Given the description of an element on the screen output the (x, y) to click on. 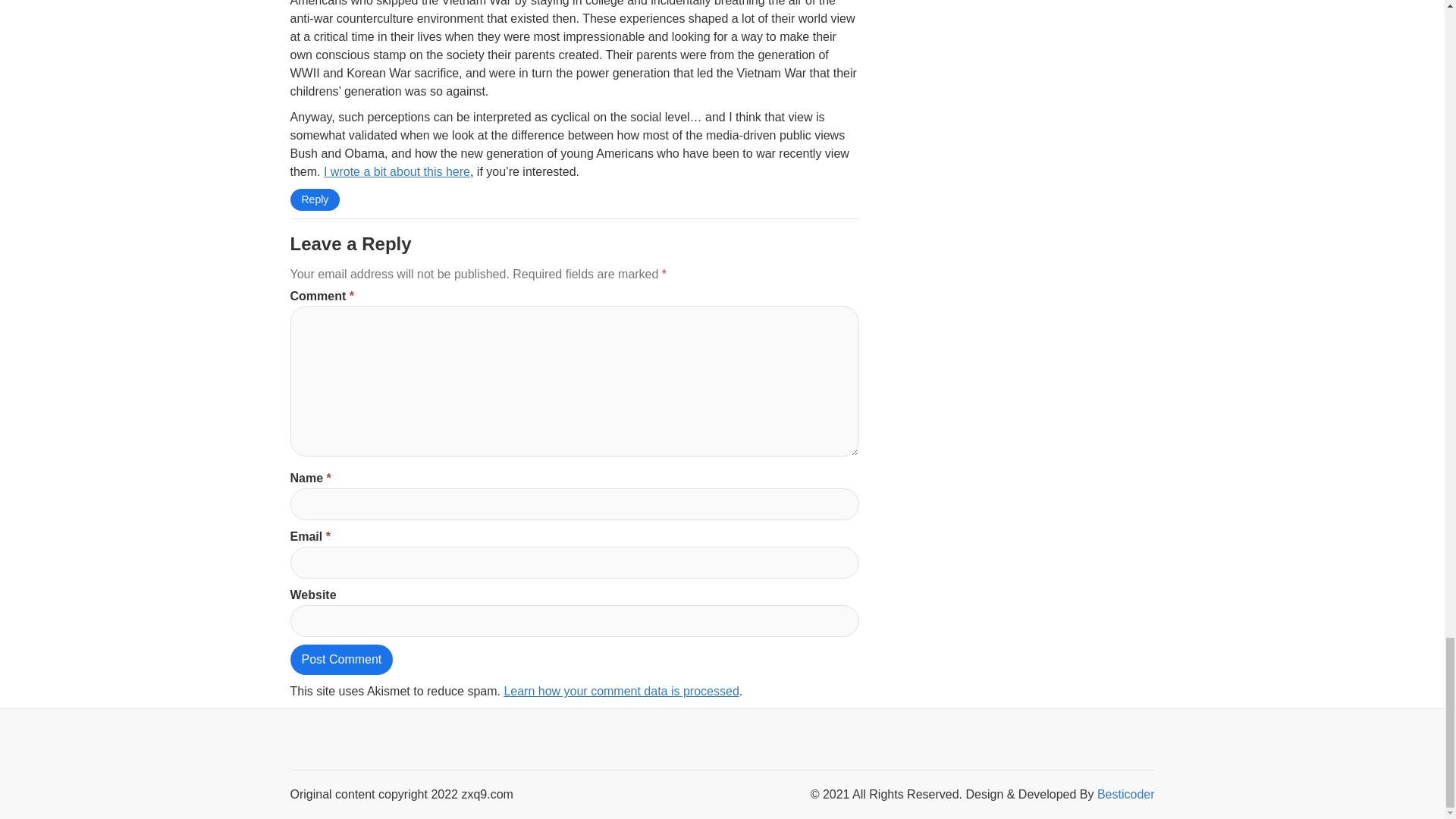
Post Comment (341, 659)
I wrote a bit about this here (396, 171)
Learn how your comment data is processed (620, 690)
Post Comment (341, 659)
Reply (314, 199)
